Given the description of an element on the screen output the (x, y) to click on. 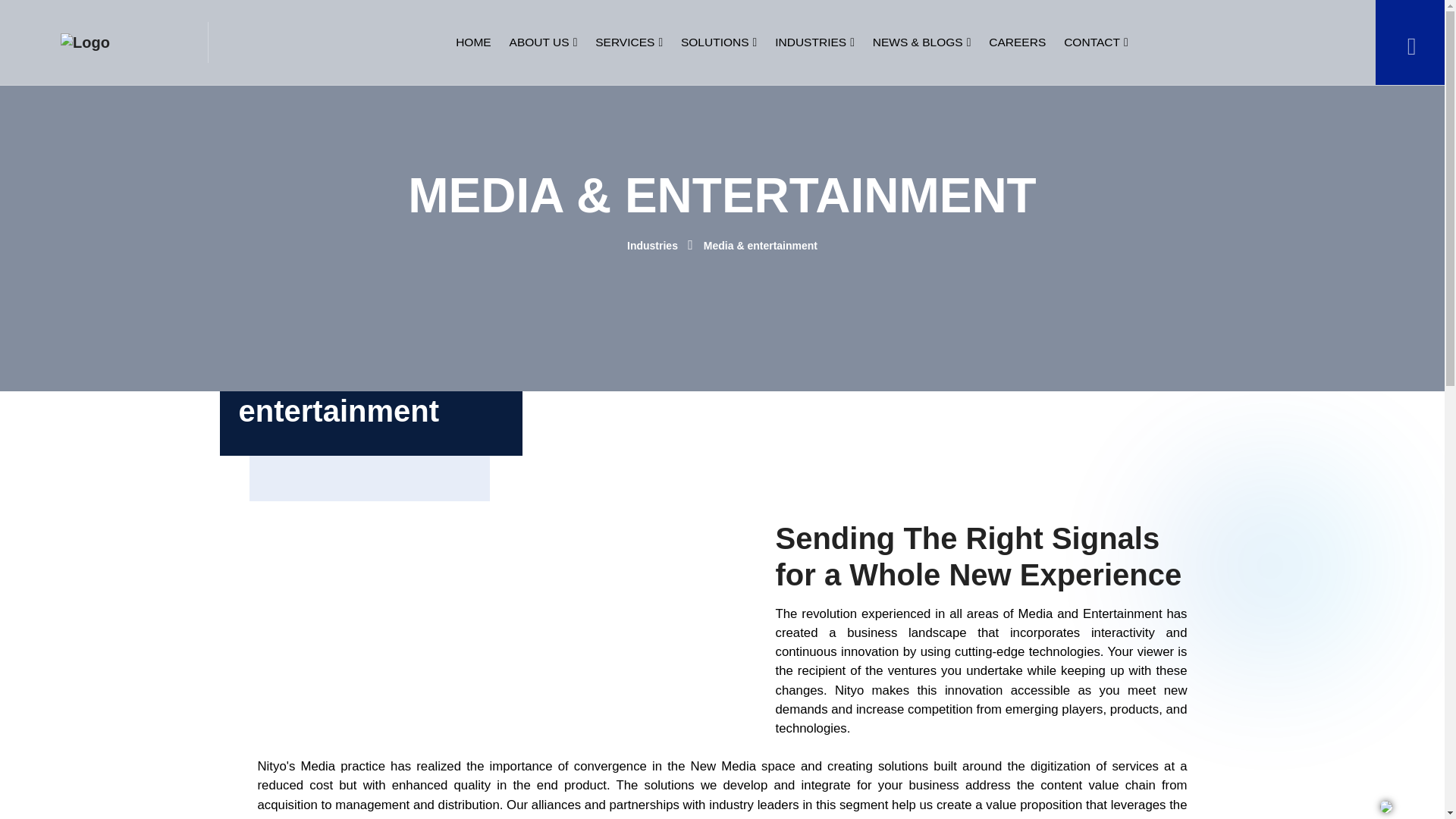
SERVICES (628, 42)
ABOUT US (543, 42)
SOLUTIONS (718, 42)
